Given the description of an element on the screen output the (x, y) to click on. 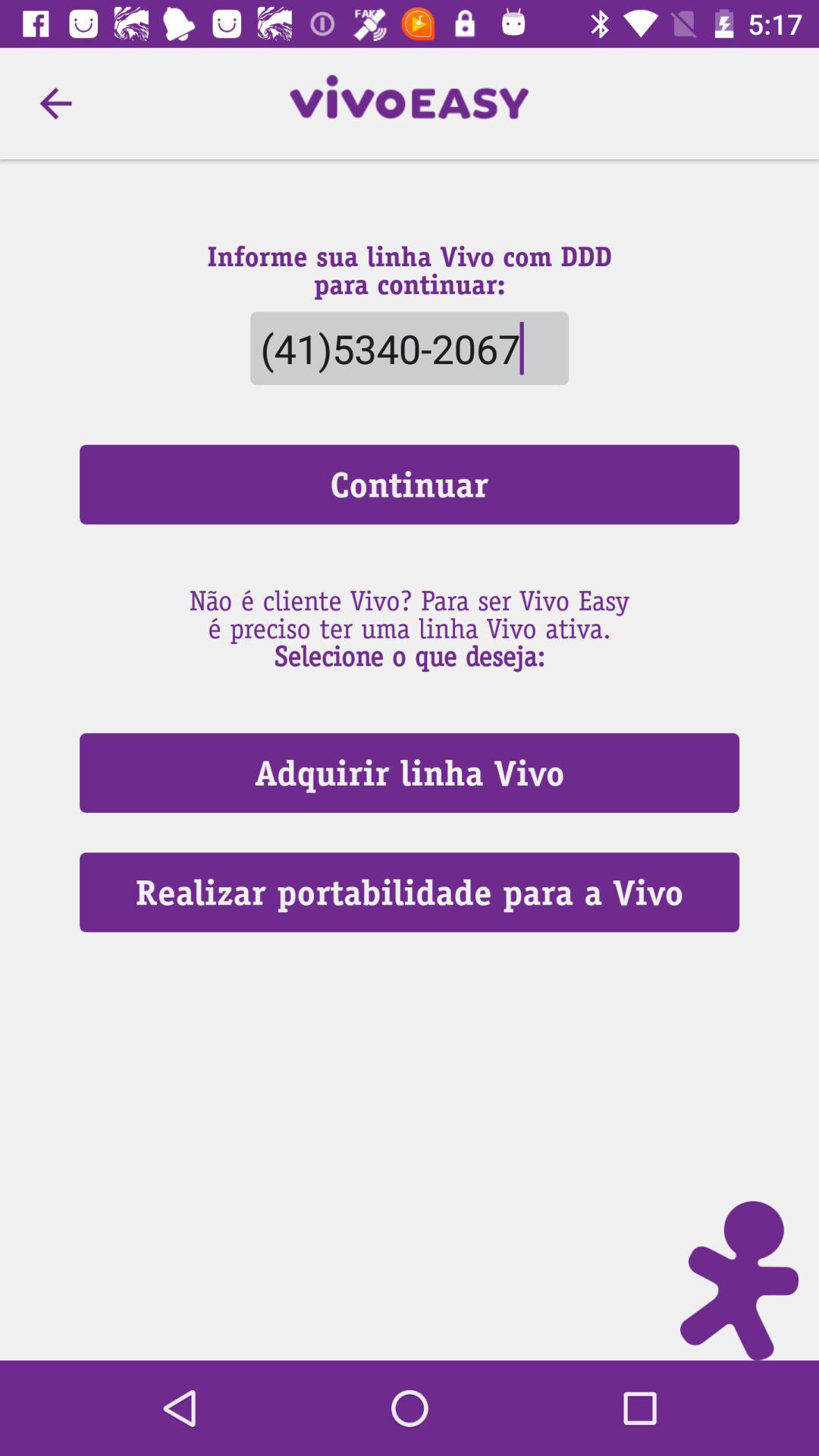
click the icon below the adquirir linha vivo (409, 892)
